Given the description of an element on the screen output the (x, y) to click on. 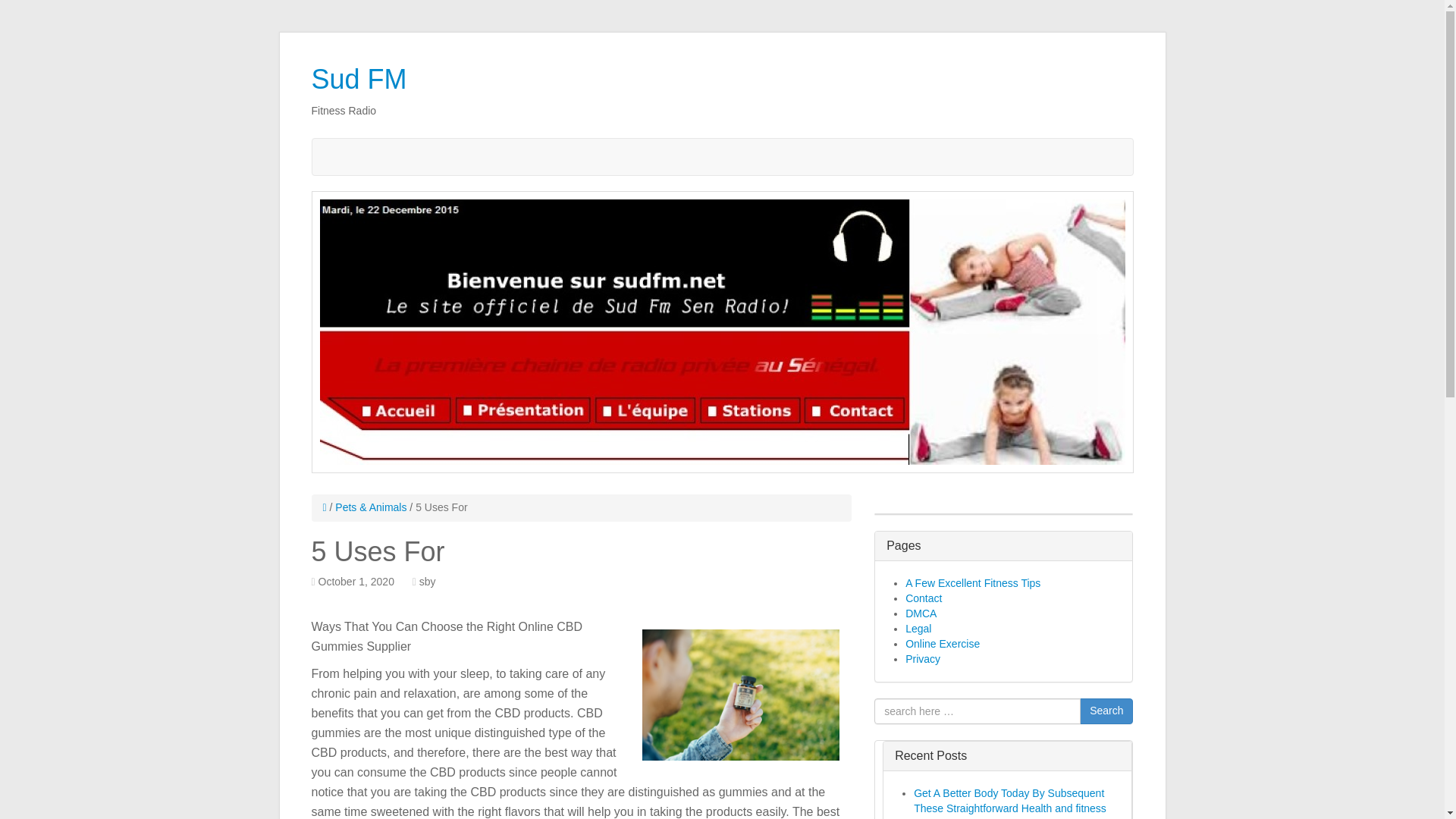
Privacy (922, 657)
October 1, 2020 (356, 581)
sby (427, 581)
Search (1106, 710)
A Few Excellent Fitness Tips (973, 582)
Legal (918, 628)
Contact (923, 598)
Sud FM (358, 79)
Sud FM (358, 79)
Online Exercise (942, 644)
